Given the description of an element on the screen output the (x, y) to click on. 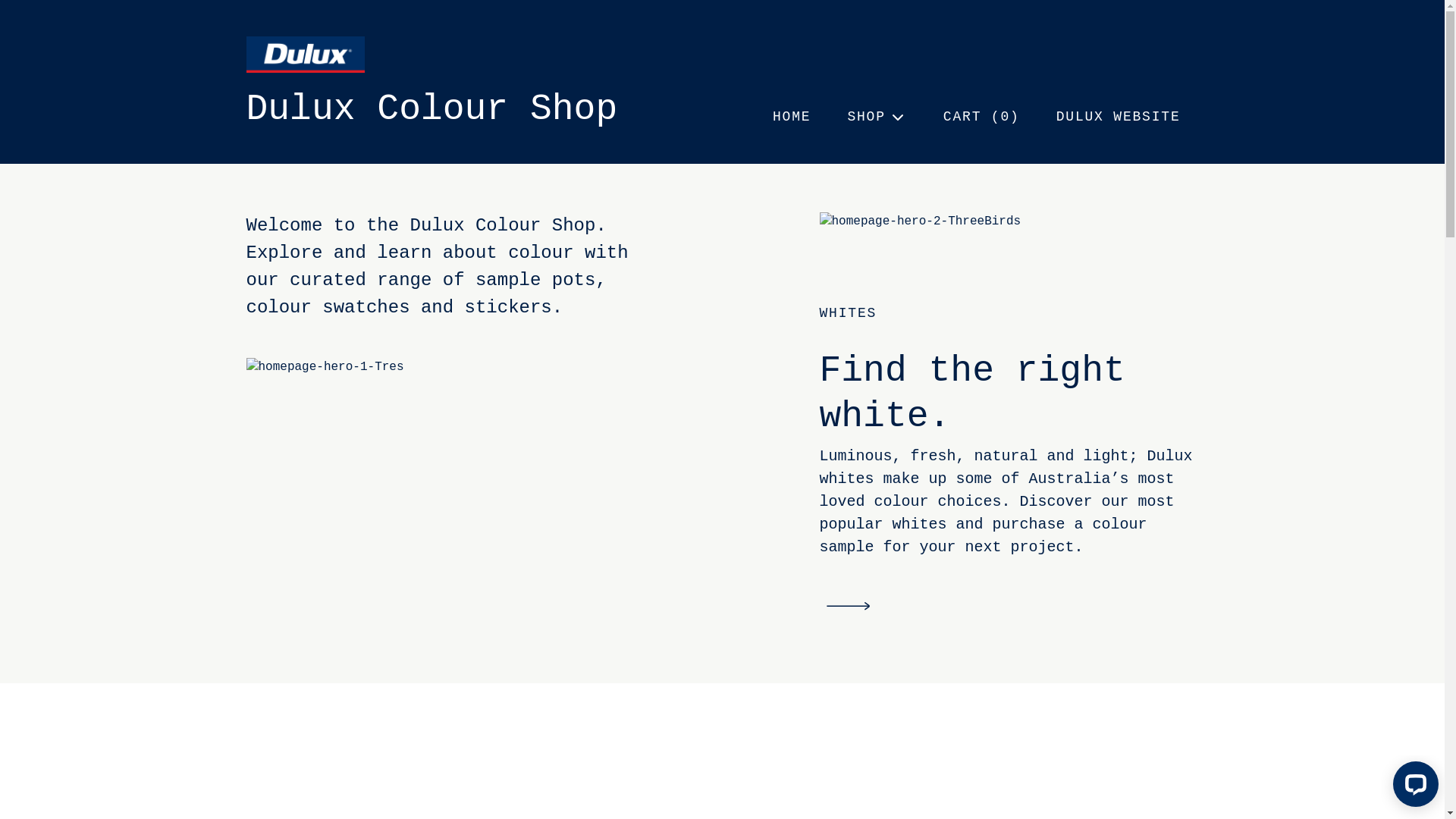
DULUX WEBSITE Element type: text (1118, 116)
CART (0) Element type: text (981, 116)
HOME Element type: text (791, 116)
Find the right white. Element type: text (1008, 393)
Dulux Colour Shop Element type: text (431, 108)
SHOP Element type: text (876, 116)
